Given the description of an element on the screen output the (x, y) to click on. 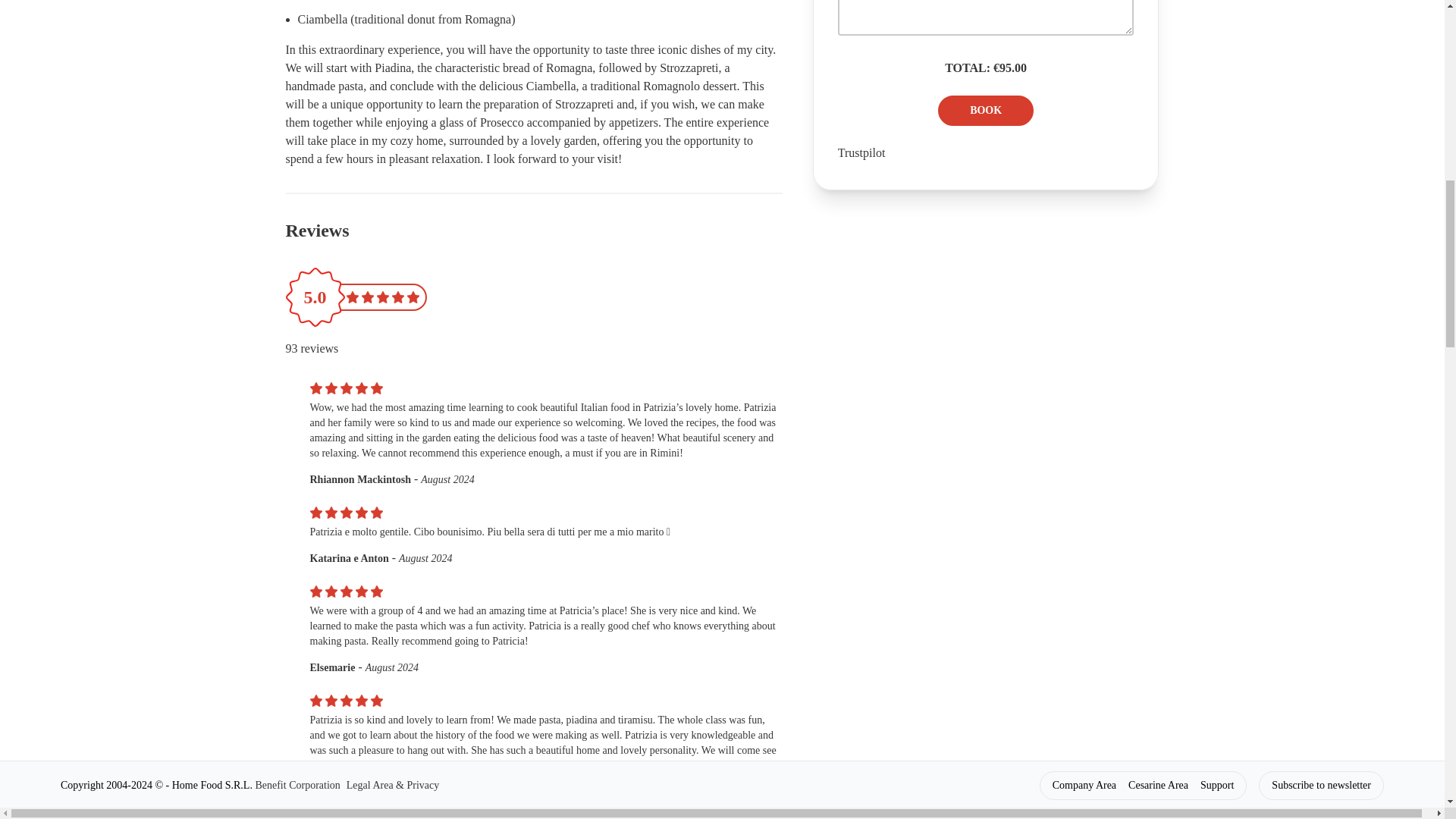
Trustpilot (861, 152)
BOOK (985, 110)
BOOK (1274, 12)
